Given the description of an element on the screen output the (x, y) to click on. 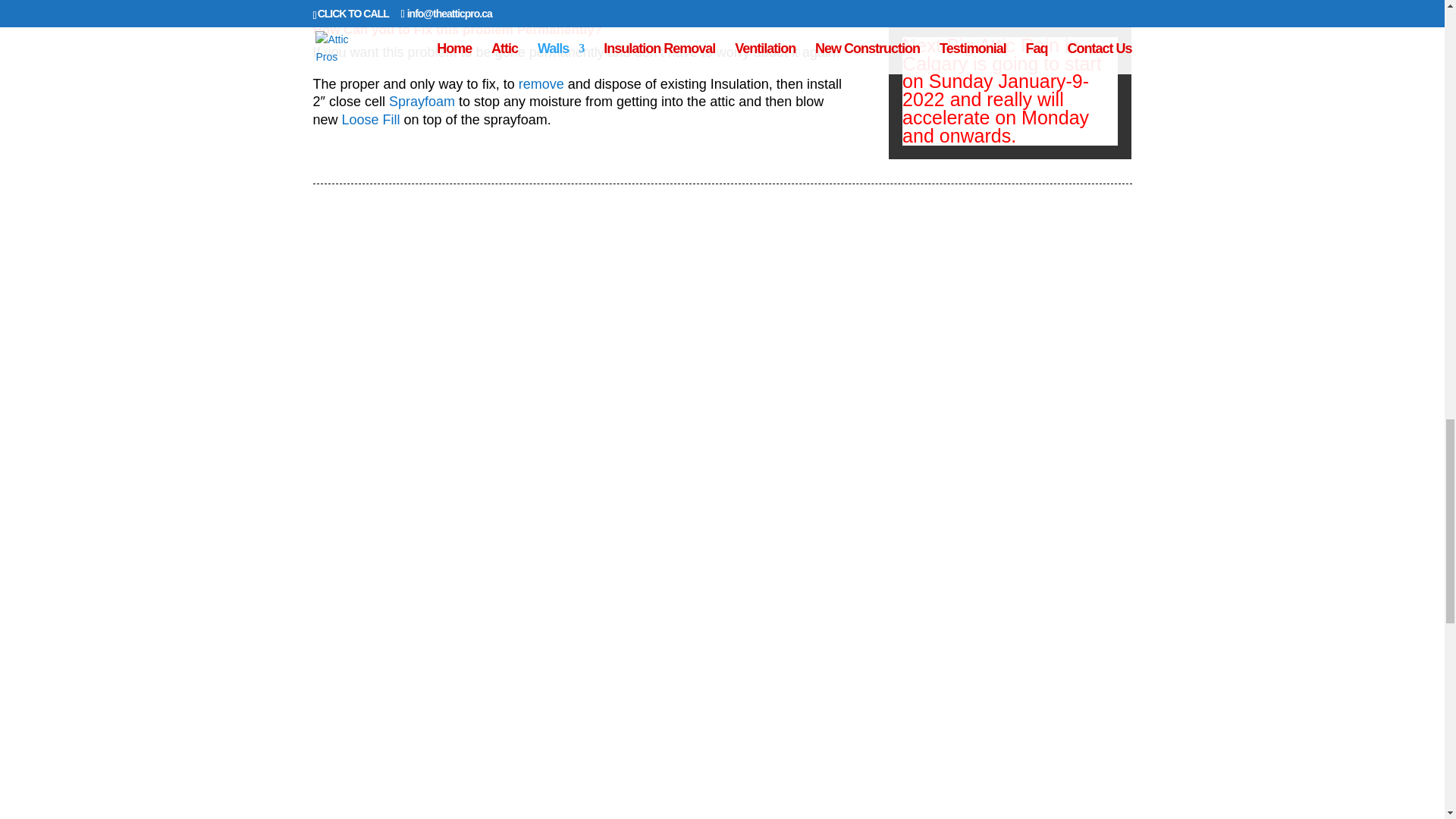
Ice build up on the Isulation (505, 681)
remove (541, 83)
Frost in the attic even with baffles (505, 376)
Loose Fill (373, 119)
Frost around Attic Hatch (937, 376)
Sprayfoam (421, 101)
